Given the description of an element on the screen output the (x, y) to click on. 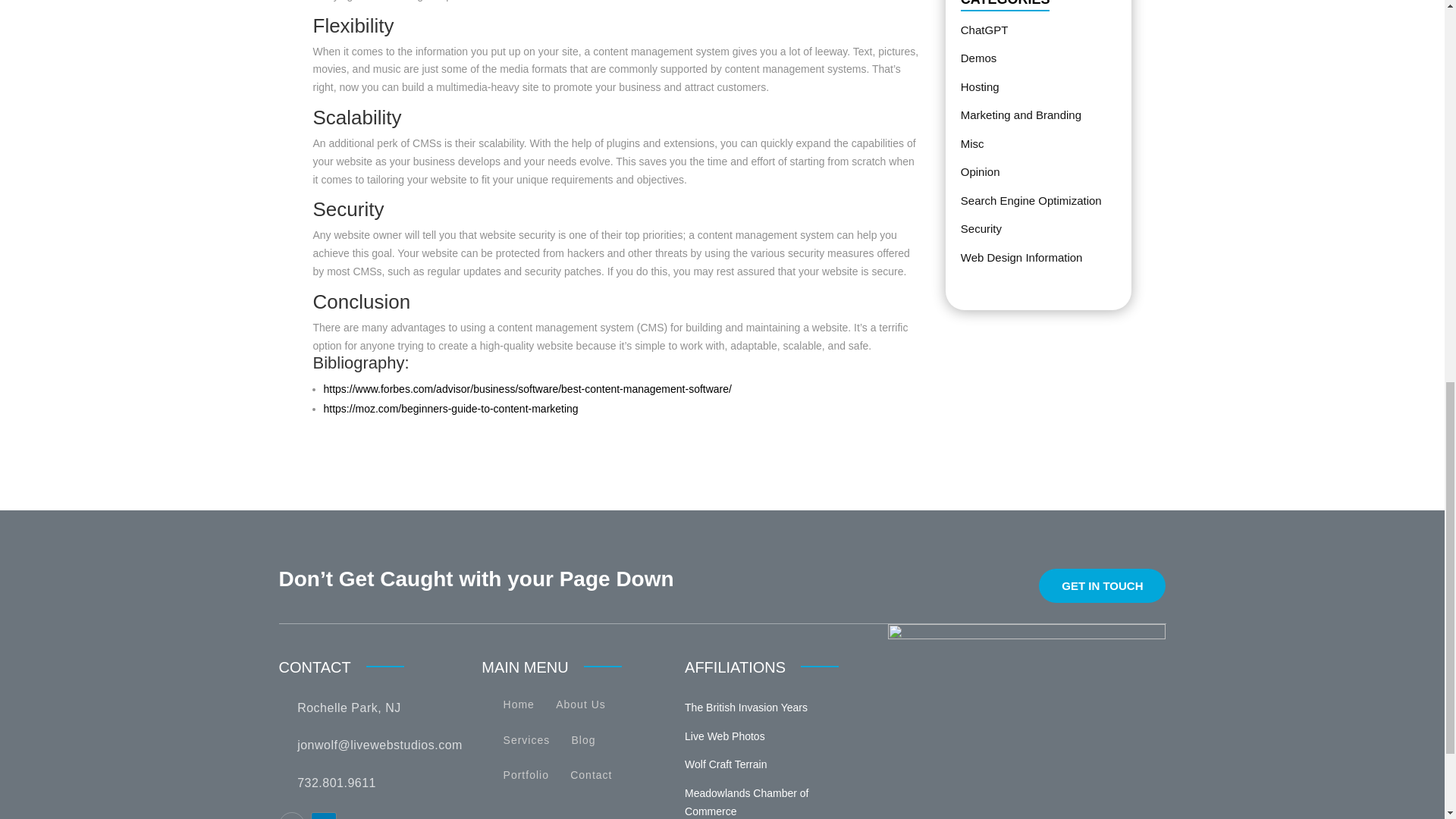
GET IN TOUCH (1102, 585)
ChatGPT (984, 29)
Demos (978, 57)
Hosting (979, 86)
Web Design Information (1021, 256)
lwslogowhiter (1027, 667)
Follow on LinkedIn (323, 815)
Search Engine Optimization (1031, 200)
Opinion (980, 171)
Misc (972, 143)
